Given the description of an element on the screen output the (x, y) to click on. 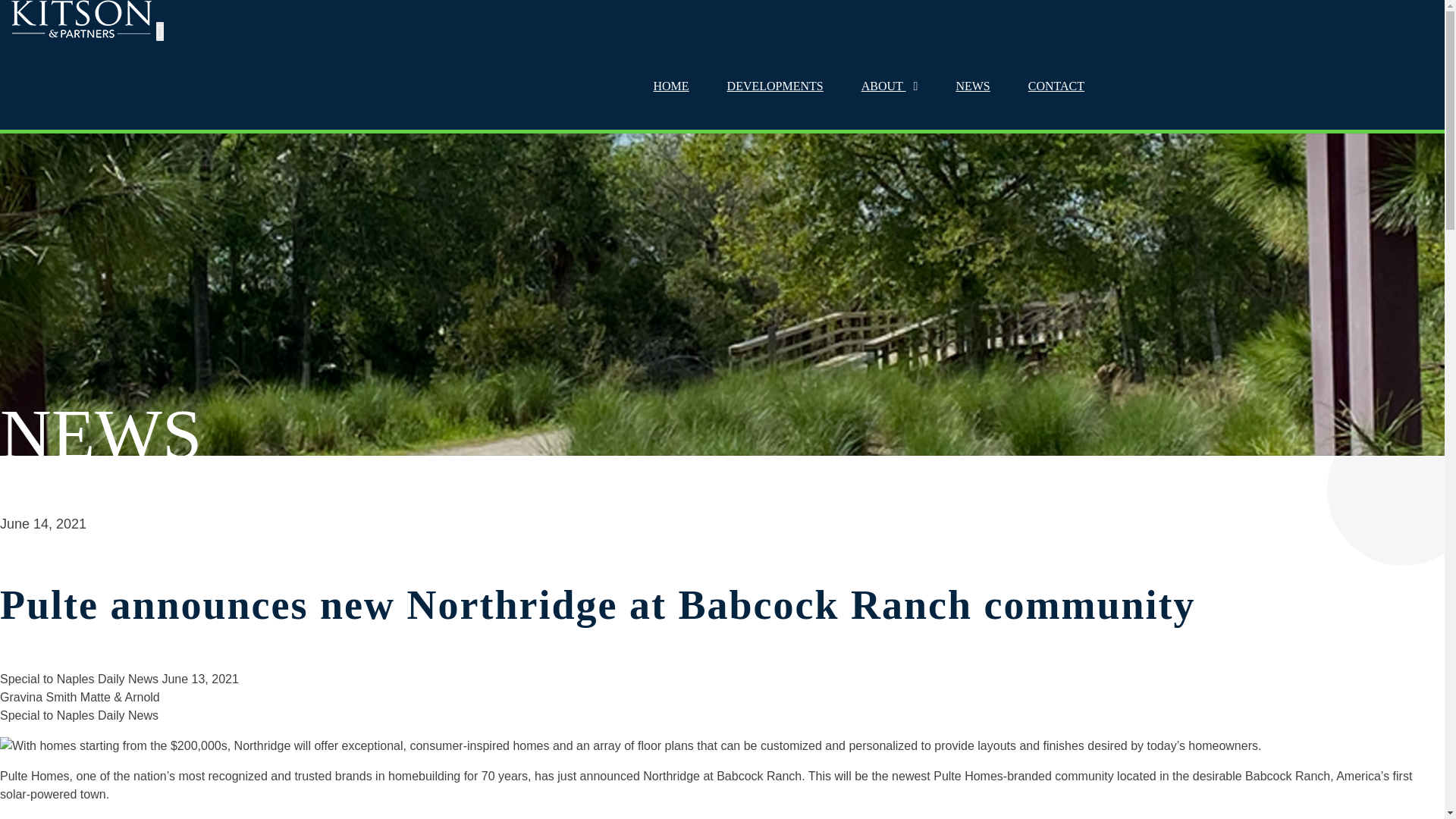
ABOUT (889, 86)
DEVELOPMENTS (774, 86)
CONTACT (1056, 86)
